Given the description of an element on the screen output the (x, y) to click on. 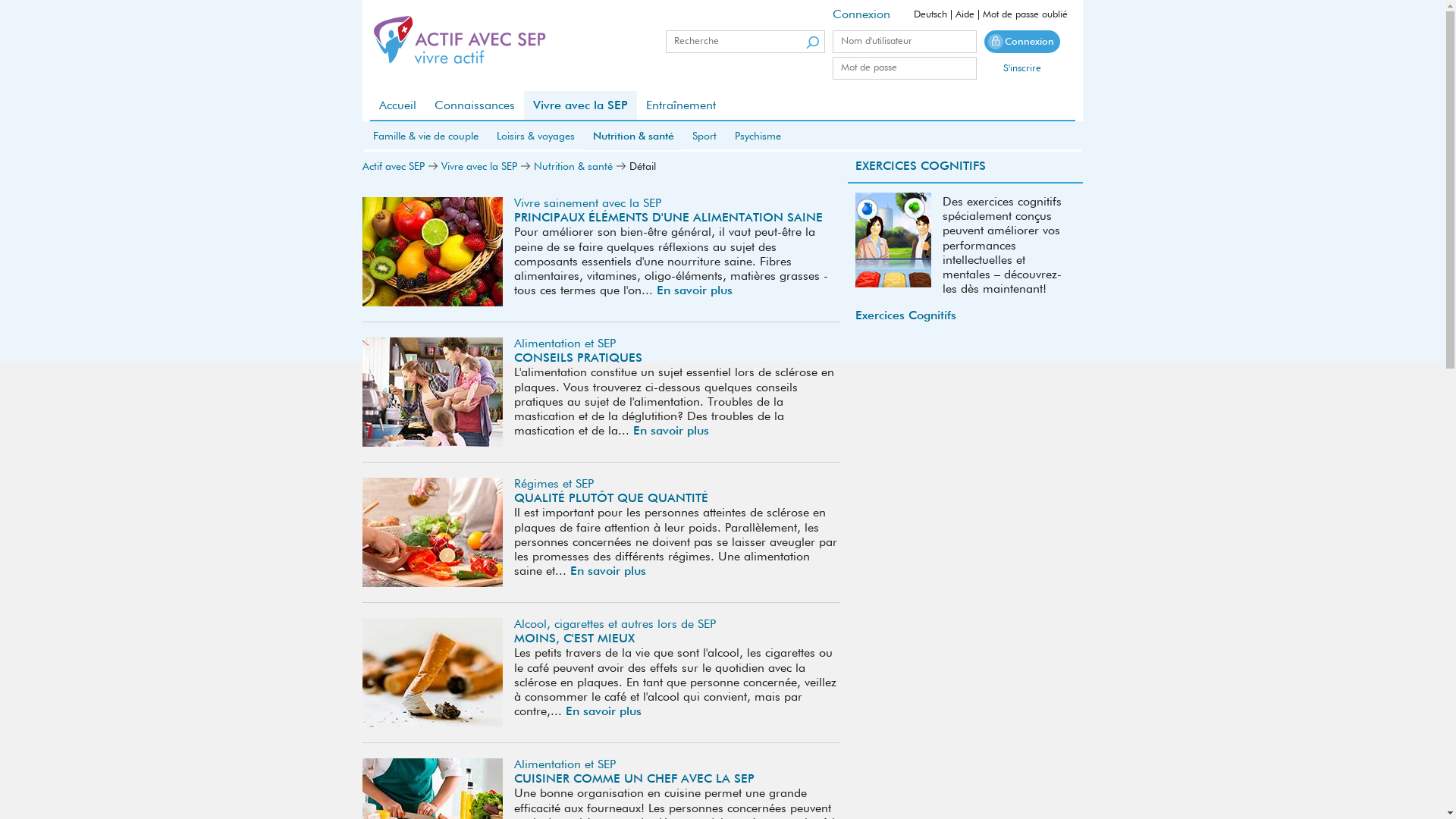
CONSEILS PRATIQUES Element type: text (578, 358)
Exercices Cognitifs Element type: text (964, 316)
Aufmerksamkeit Element type: hover (894, 242)
Connaissances Element type: text (473, 106)
En savoir plus Element type: text (608, 571)
En savoir plus Element type: text (603, 712)
Leben Weniger ist mehr187473707 Neydt Stock shutterstock 212 Element type: hover (432, 672)
En savoir plus Element type: text (694, 291)
Famille & vie de couple Element type: text (425, 136)
Aide Element type: text (964, 14)
Accueil Element type: text (397, 106)
Actif avec SEP Element type: text (393, 166)
Sport Element type: text (703, 136)
Vivre avec la SEP Element type: text (479, 166)
Connexion Element type: text (1022, 41)
Leben Praktische Tipps 84164239 Monkey Business Fotolia 207 Element type: hover (432, 391)
S'inscrire Element type: text (1022, 67)
Deutsch Element type: text (929, 14)
CUISINER COMME UN CHEF AVEC LA SEP Element type: text (634, 779)
Kognitives-Training 01 Element type: hover (893, 239)
Psychisme Element type: text (756, 136)
Vivre avec la SEP Element type: text (579, 106)
Loisirs & voyages Element type: text (534, 136)
En savoir plus Element type: text (670, 431)
Suchen Element type: text (812, 42)
MOINS, C'EST MIEUX Element type: text (574, 639)
